Given the description of an element on the screen output the (x, y) to click on. 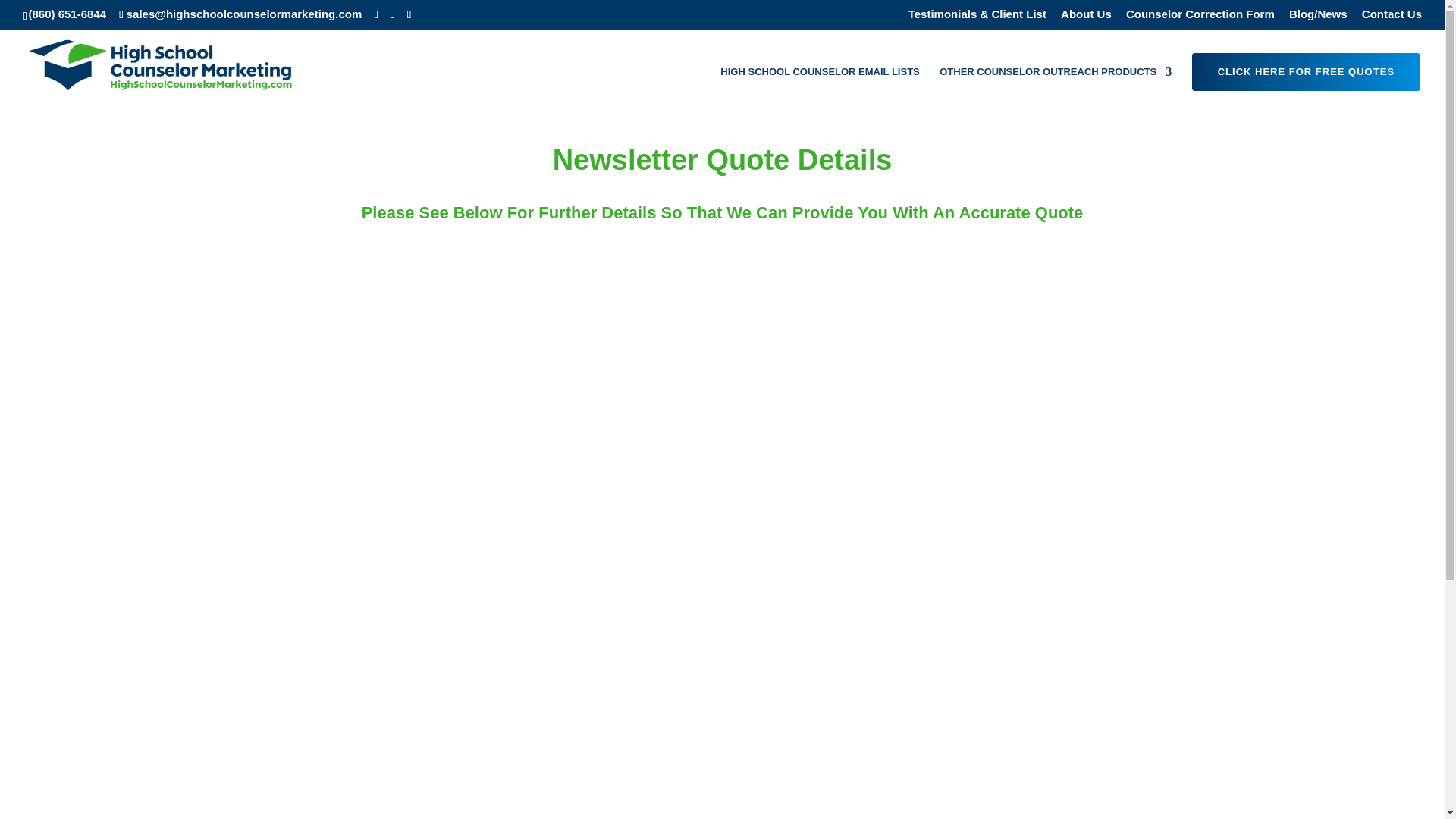
Contact Us (1391, 17)
About Us (1086, 17)
OTHER COUNSELOR OUTREACH PRODUCTS (1055, 86)
Counselor Correction Form (1200, 17)
HIGH SCHOOL COUNSELOR EMAIL LISTS (819, 86)
CLICK HERE FOR FREE QUOTES (1305, 71)
